Given the description of an element on the screen output the (x, y) to click on. 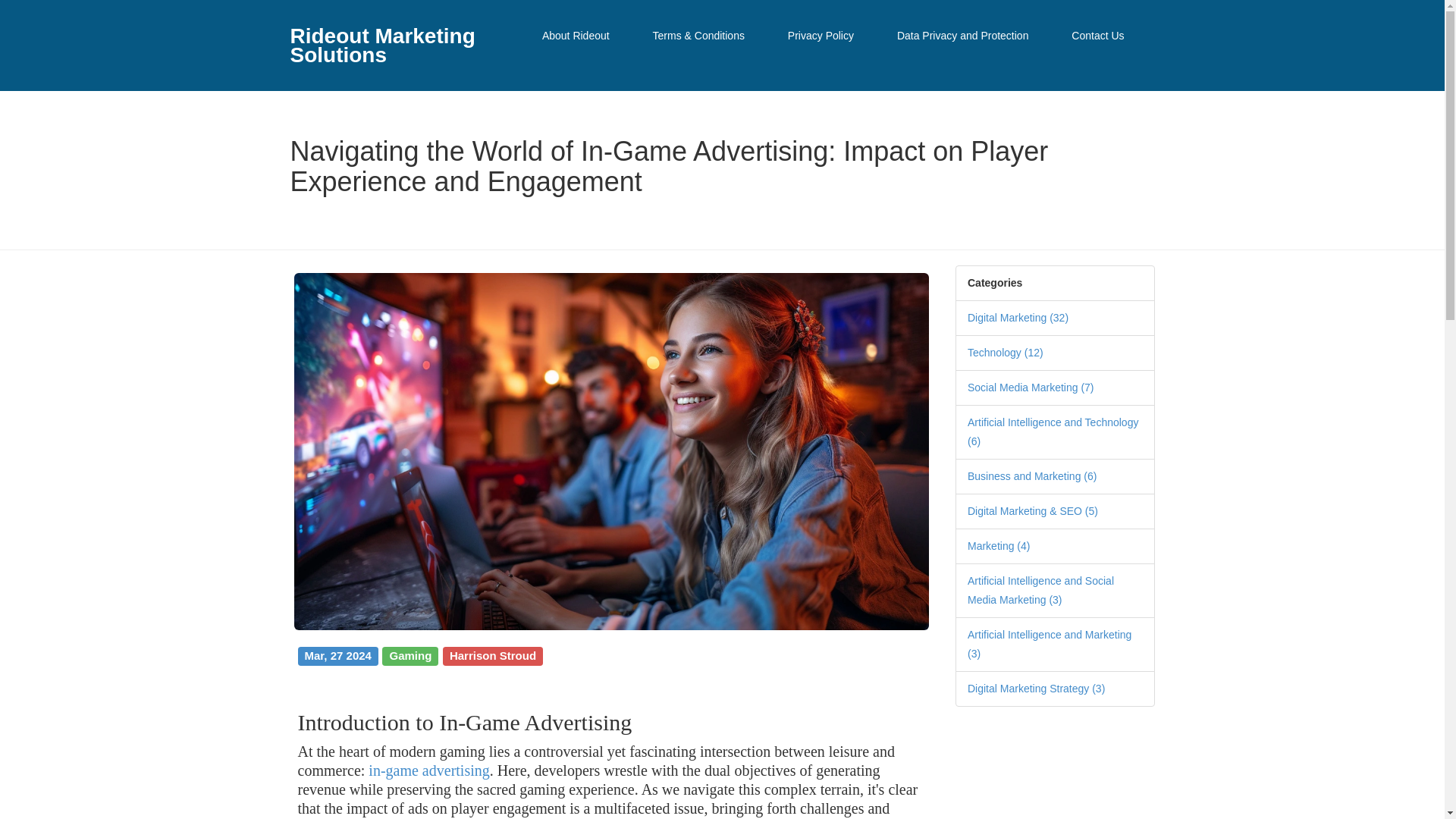
Rideout Marketing Solutions (389, 45)
Privacy Policy (820, 35)
Data Privacy and Protection (963, 35)
in-game advertising (428, 770)
About Rideout (576, 35)
Contact Us (1097, 35)
